Given the description of an element on the screen output the (x, y) to click on. 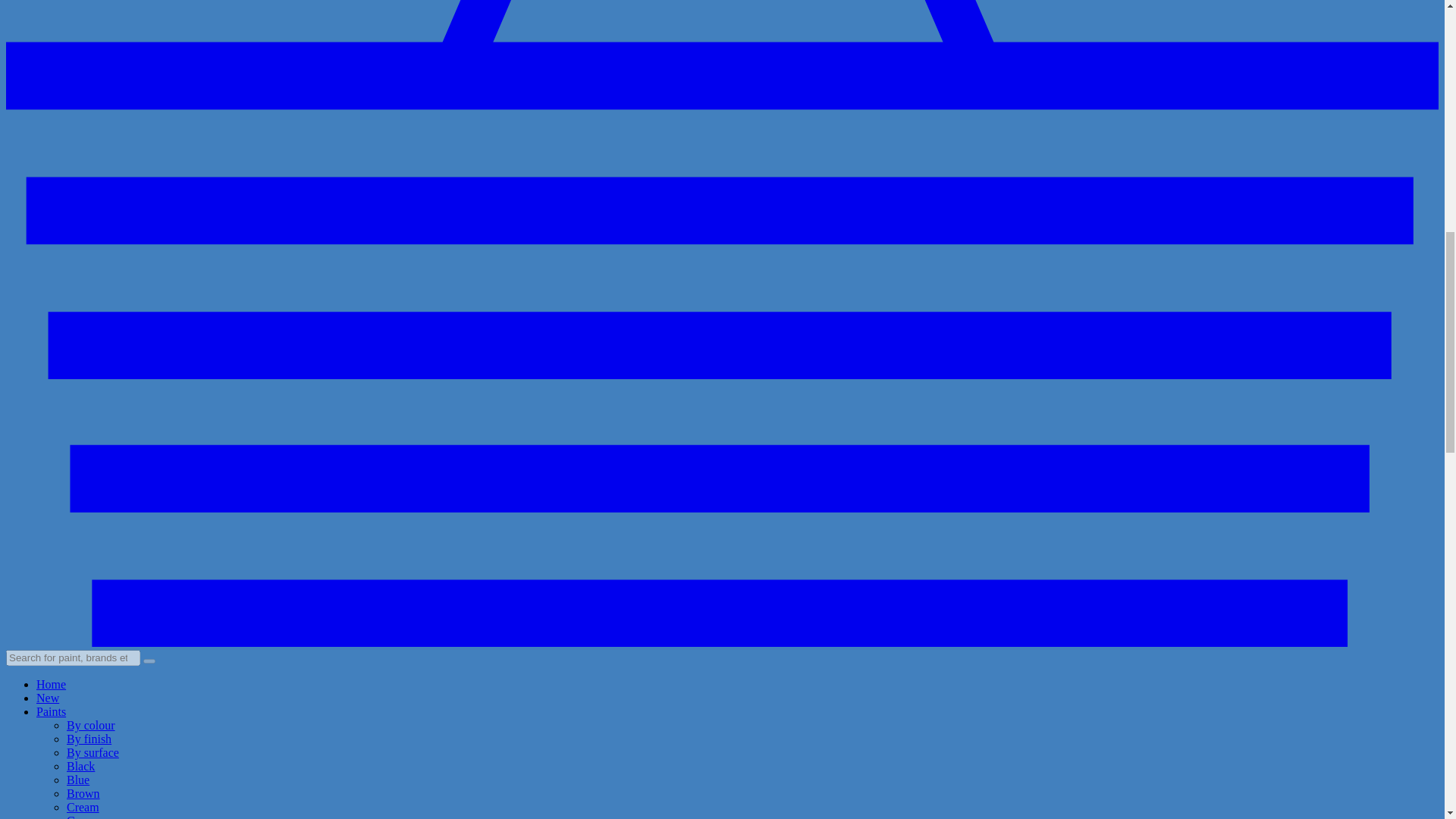
Cream (82, 807)
Paints (50, 711)
By surface (92, 752)
By colour (90, 725)
New (47, 697)
Brown (83, 793)
Home (50, 684)
Green (81, 816)
By finish (89, 738)
Blue (77, 779)
Black (80, 766)
